Given the description of an element on the screen output the (x, y) to click on. 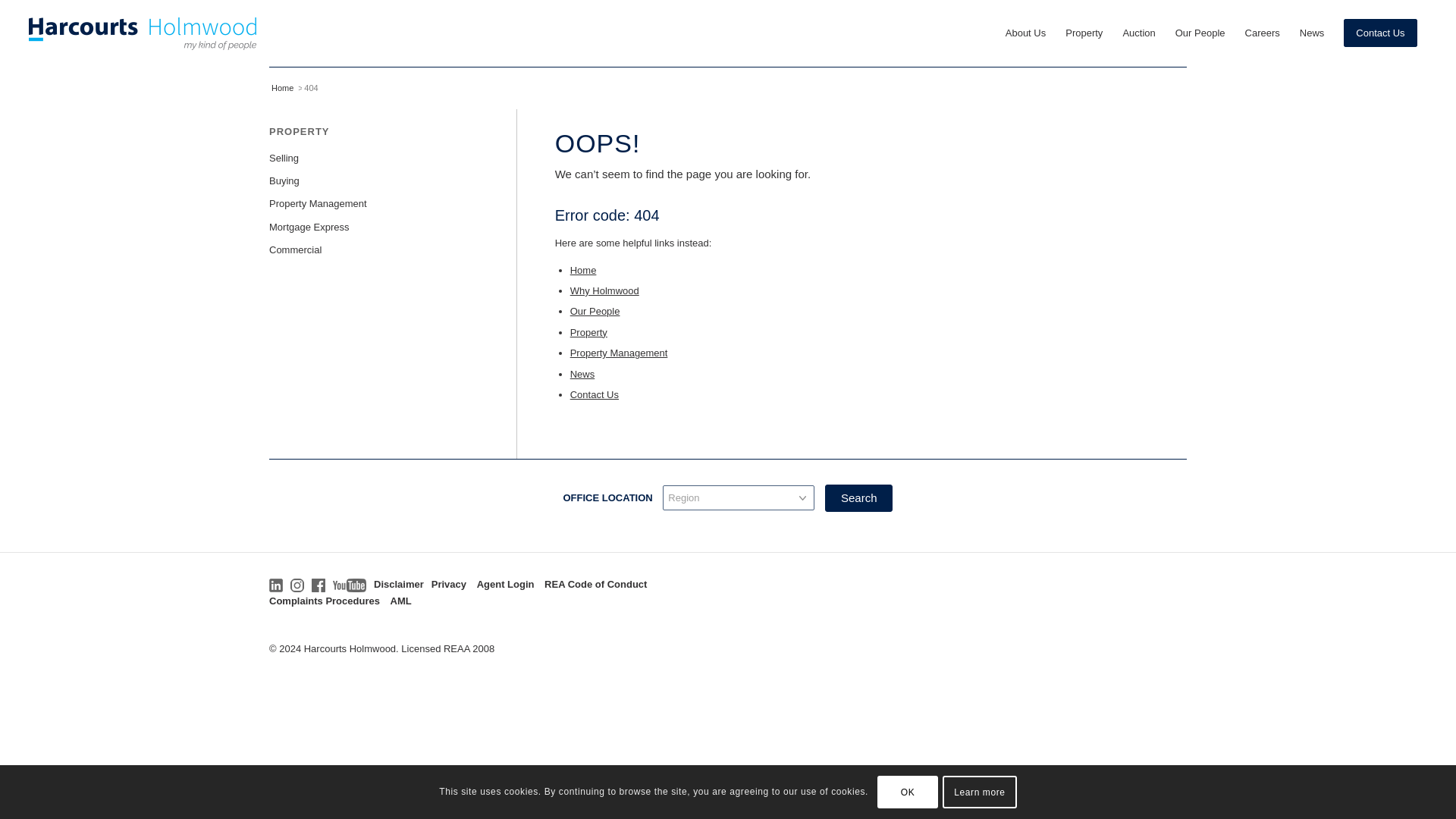
Property (588, 332)
Contact Us (594, 394)
Buying (374, 180)
Our People (1200, 33)
Home (583, 270)
Contact Us (1379, 33)
Home (282, 88)
Why Holmwood (604, 290)
Property Management (619, 352)
Our People (595, 310)
